Given the description of an element on the screen output the (x, y) to click on. 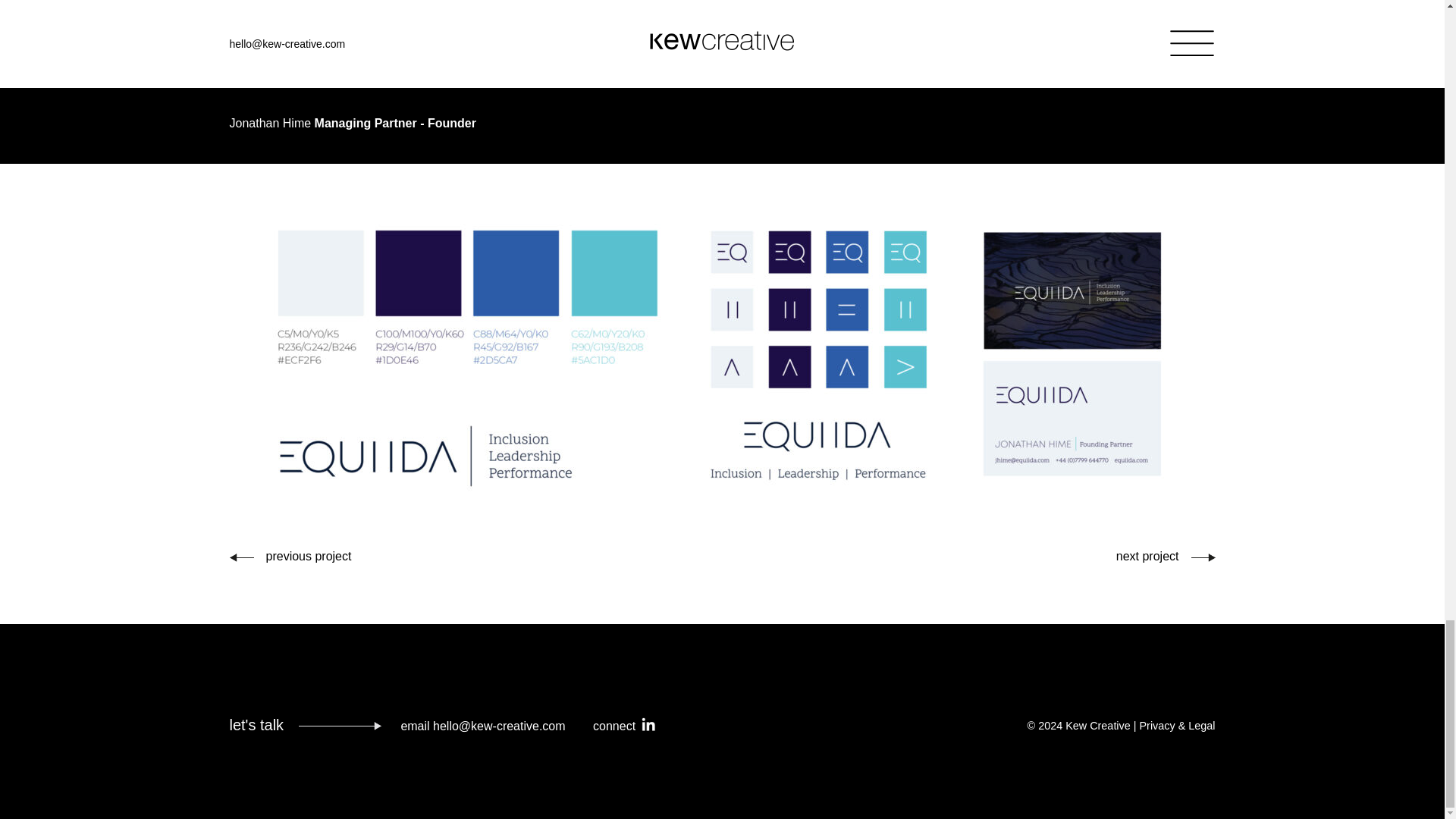
LinkedIn (649, 724)
next project (1165, 555)
previous project (289, 555)
